Given the description of an element on the screen output the (x, y) to click on. 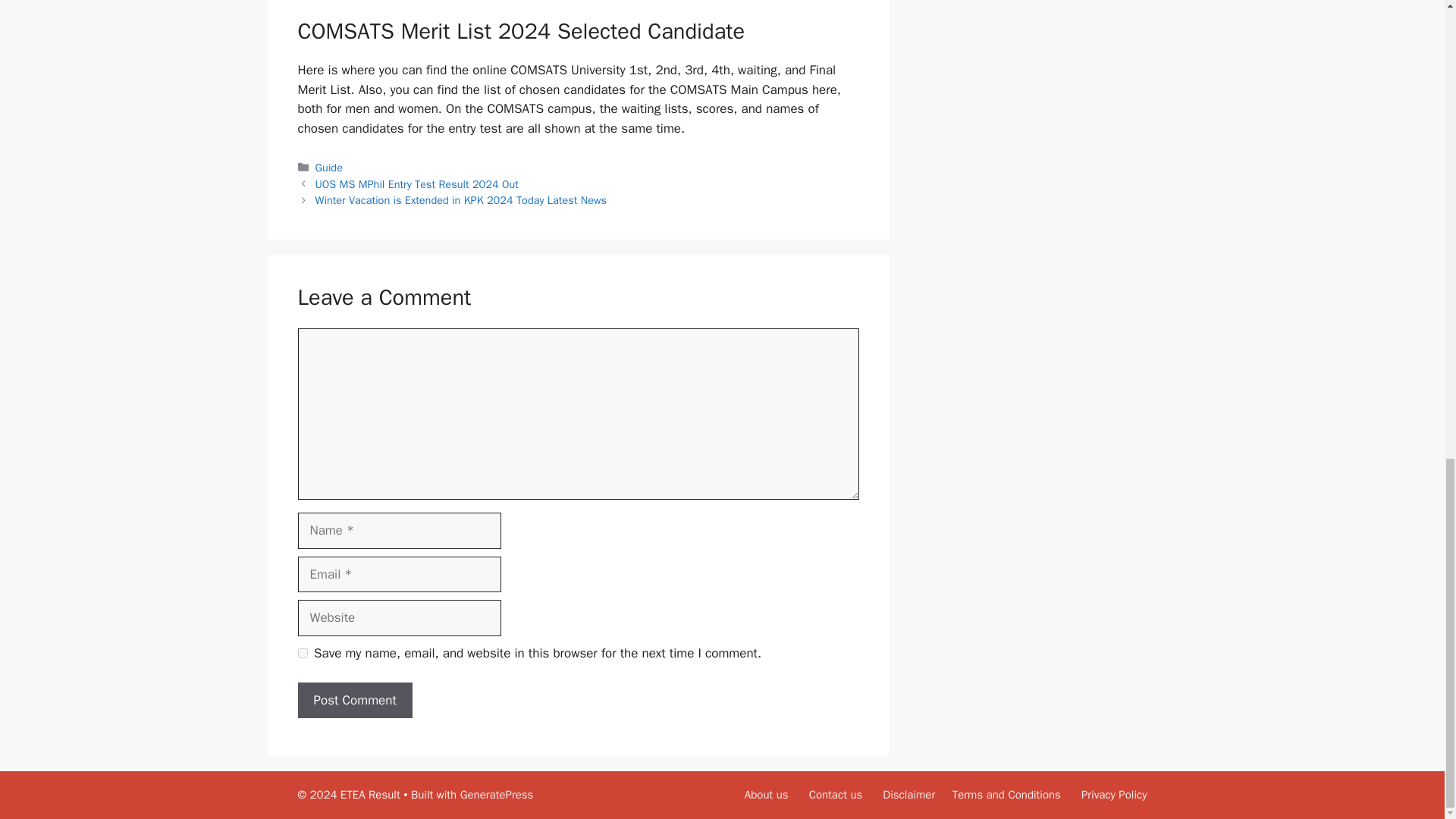
Post Comment (354, 700)
Privacy Policy (1114, 794)
Guide (328, 167)
About us (766, 794)
Contact us (836, 794)
yes (302, 653)
UOS MS MPhil Entry Test Result 2024 Out (416, 183)
Terms and Conditions (1006, 794)
GeneratePress (497, 794)
Post Comment (354, 700)
